Given the description of an element on the screen output the (x, y) to click on. 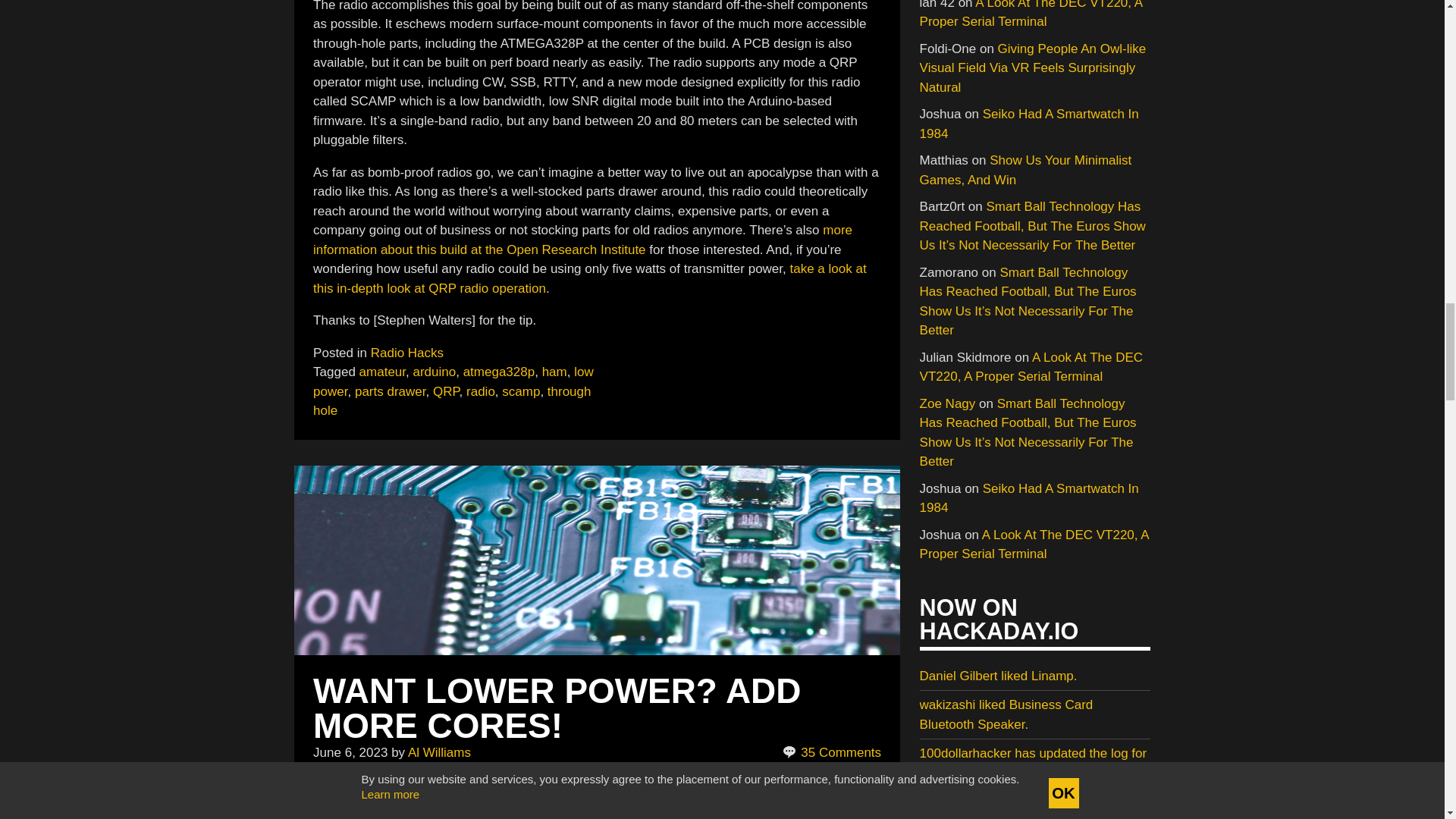
June 6, 2023 - 1:00 am (350, 752)
Posts by Al Williams (438, 752)
